Given the description of an element on the screen output the (x, y) to click on. 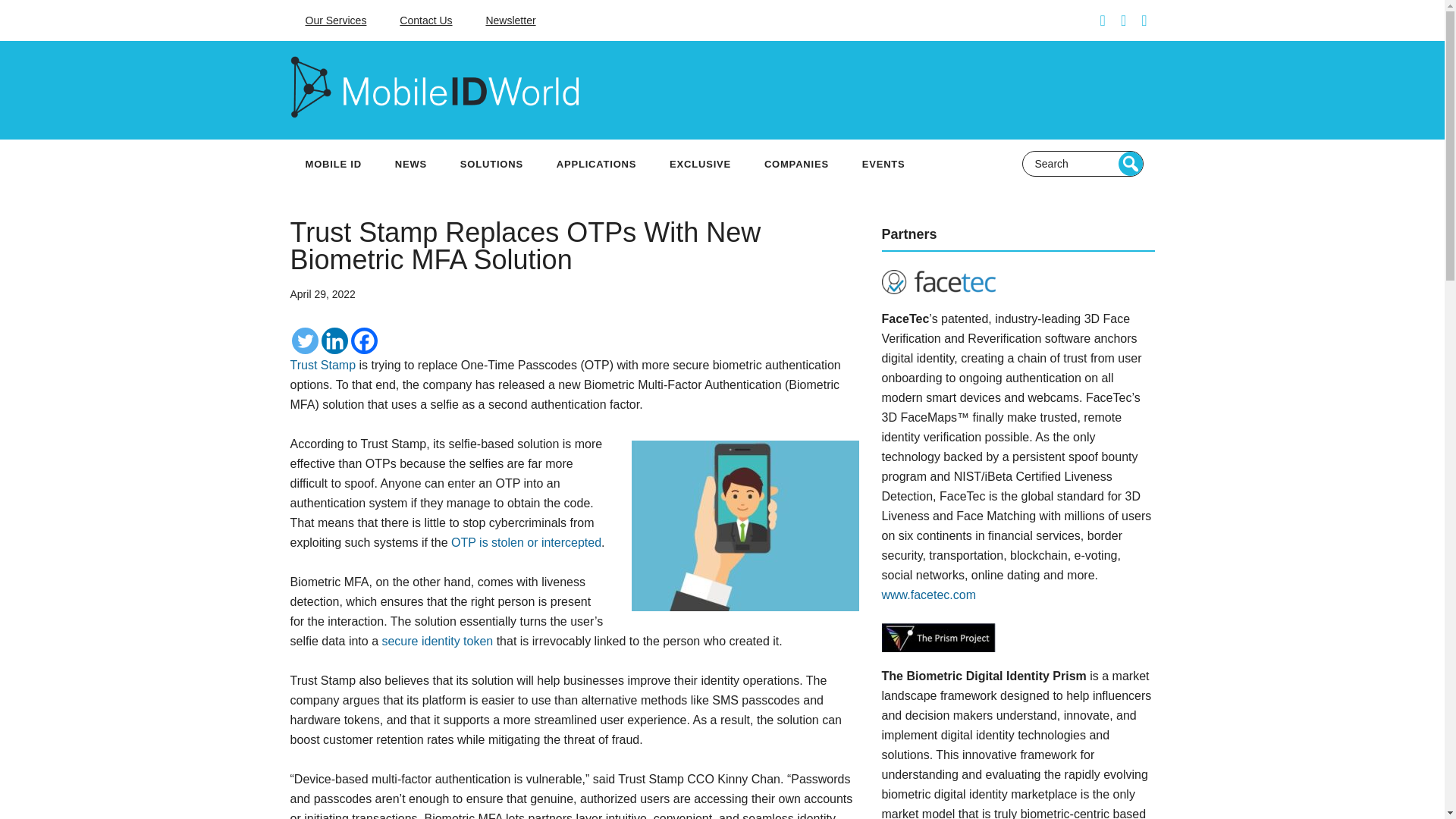
Linkedin (334, 340)
NEWS (411, 164)
APPLICATIONS (595, 164)
Our Services (335, 20)
EXCLUSIVE (699, 164)
Twitter (304, 340)
Facebook (363, 340)
MOBILE ID (332, 164)
Contact Us (425, 20)
